Given the description of an element on the screen output the (x, y) to click on. 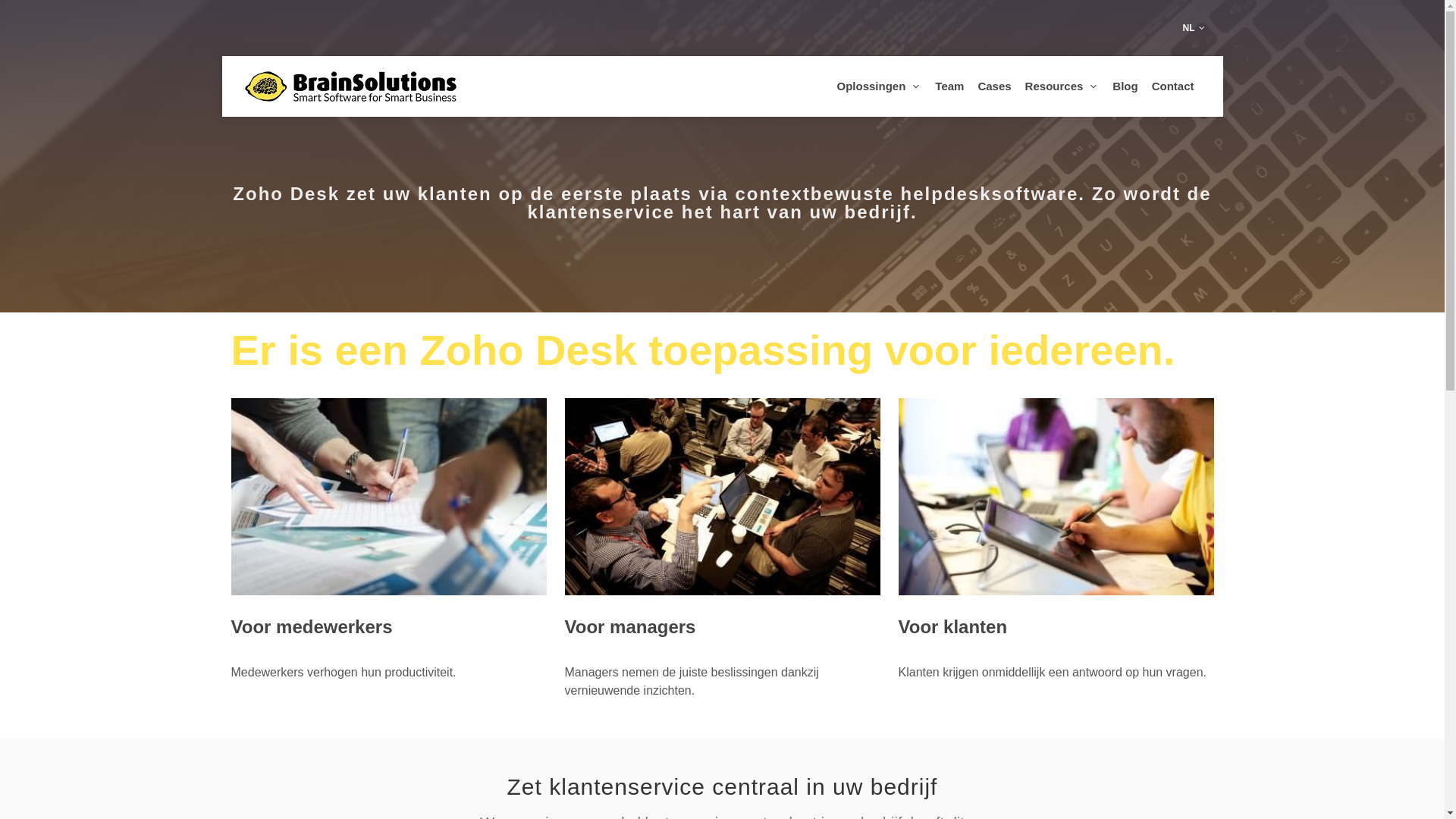
Oplossingen Element type: text (878, 86)
Cases Element type: text (993, 86)
NL Element type: text (1193, 27)
Contact Element type: text (1172, 86)
Team Element type: text (948, 86)
Resources Element type: text (1062, 86)
Blog Element type: text (1124, 86)
